Given the description of an element on the screen output the (x, y) to click on. 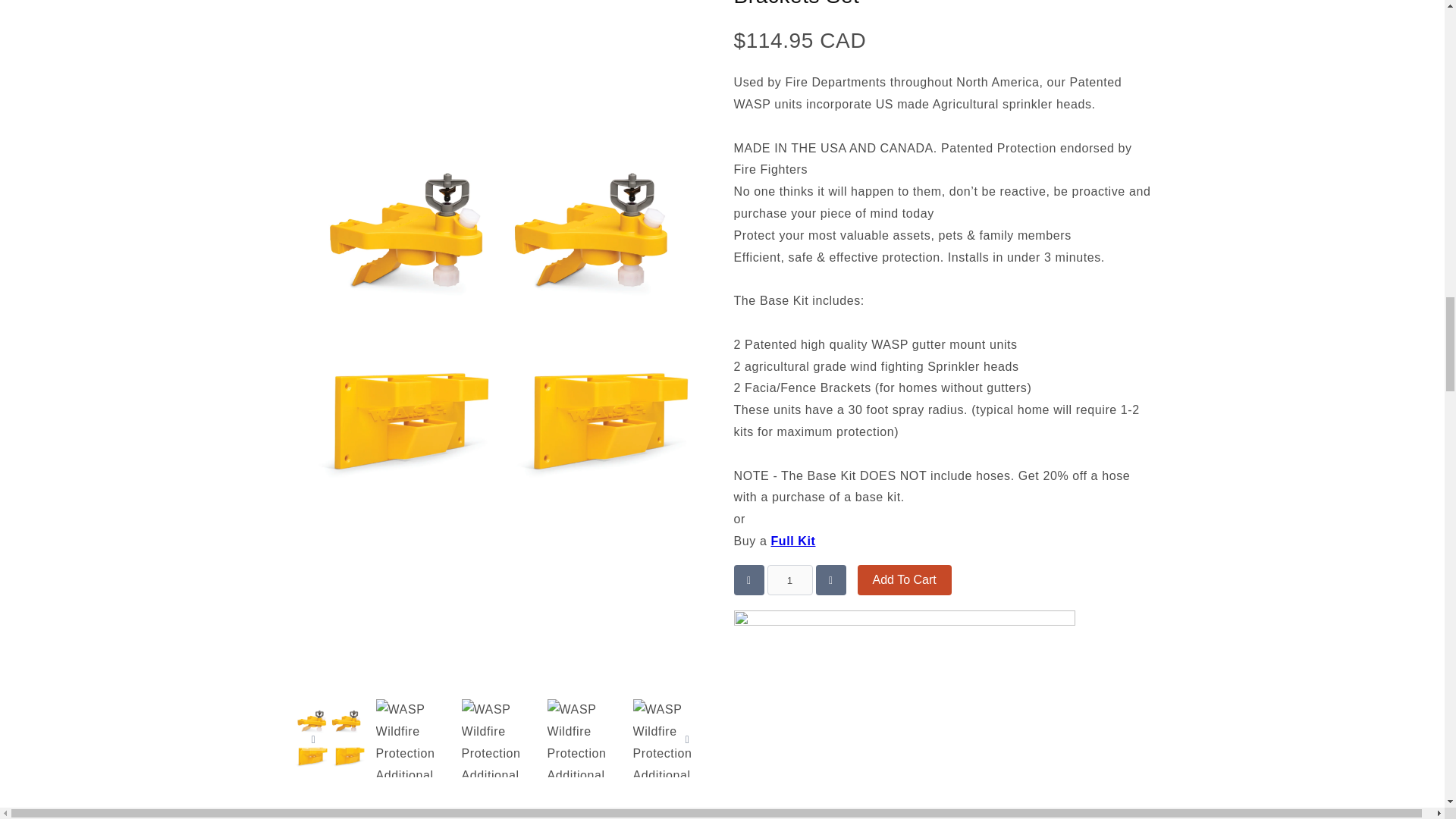
1 (789, 580)
Full Kit (792, 540)
Add To Cart (903, 580)
